Given the description of an element on the screen output the (x, y) to click on. 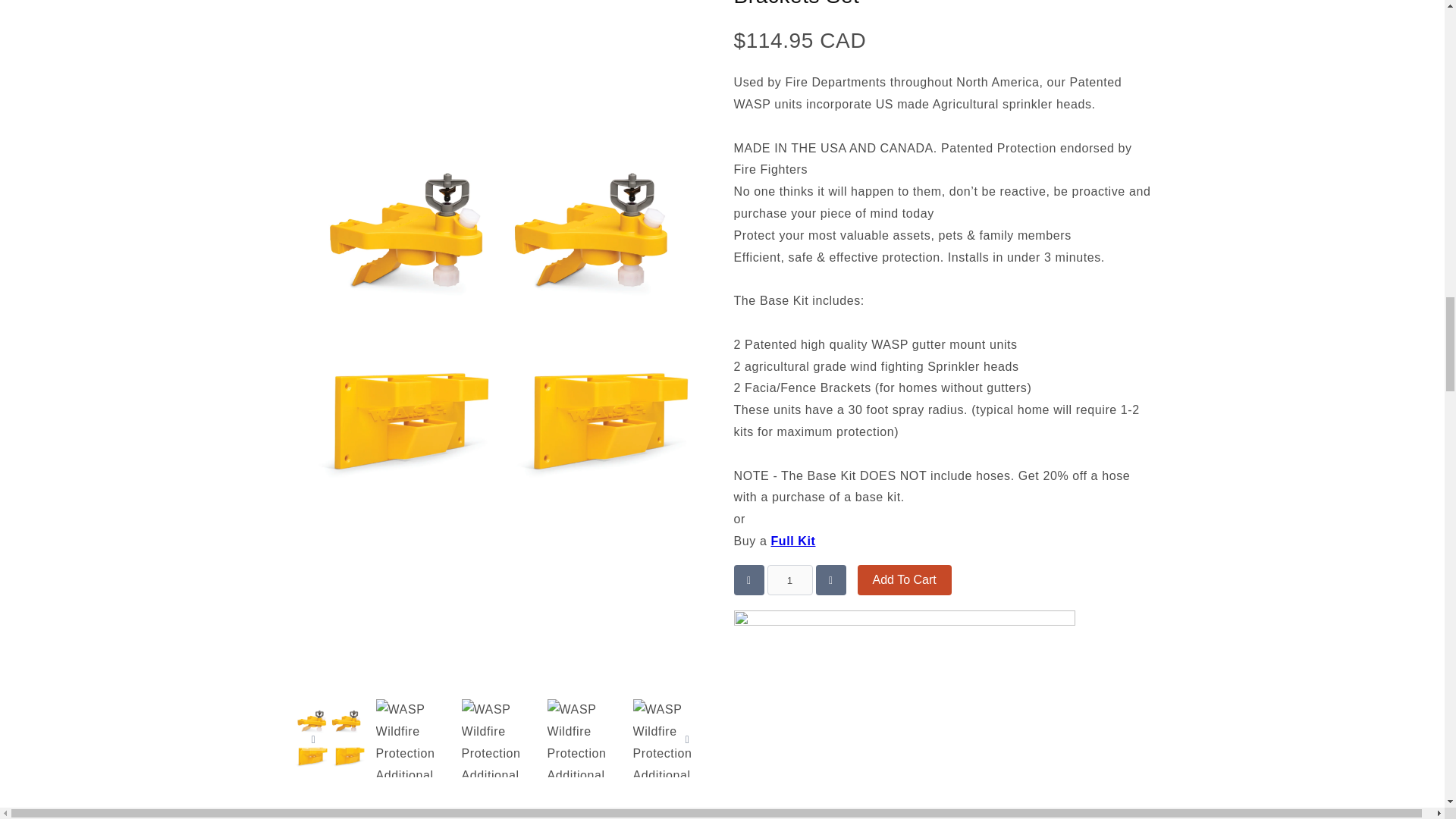
1 (789, 580)
Full Kit (792, 540)
Add To Cart (903, 580)
